Given the description of an element on the screen output the (x, y) to click on. 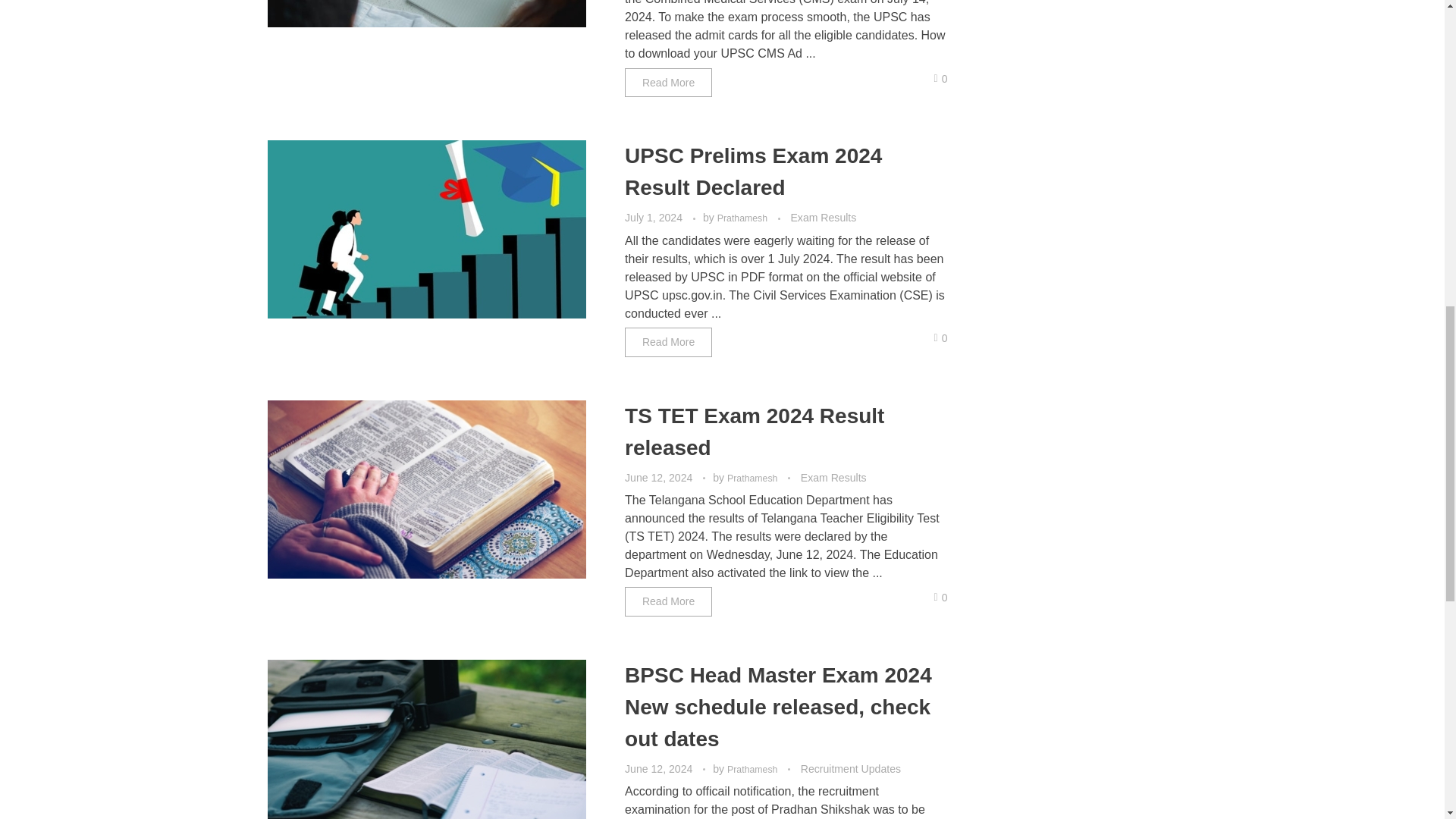
Prathamesh (743, 217)
Read More (667, 82)
Exam Results (823, 217)
View all posts by Prathamesh (743, 217)
View all posts in Exam Results (833, 478)
View all posts by Prathamesh (753, 478)
July 1, 2024 (654, 217)
Read More (667, 342)
UPSC Prelims Exam 2024 Result Declared (753, 171)
View all posts in Exam Results (823, 217)
